Given the description of an element on the screen output the (x, y) to click on. 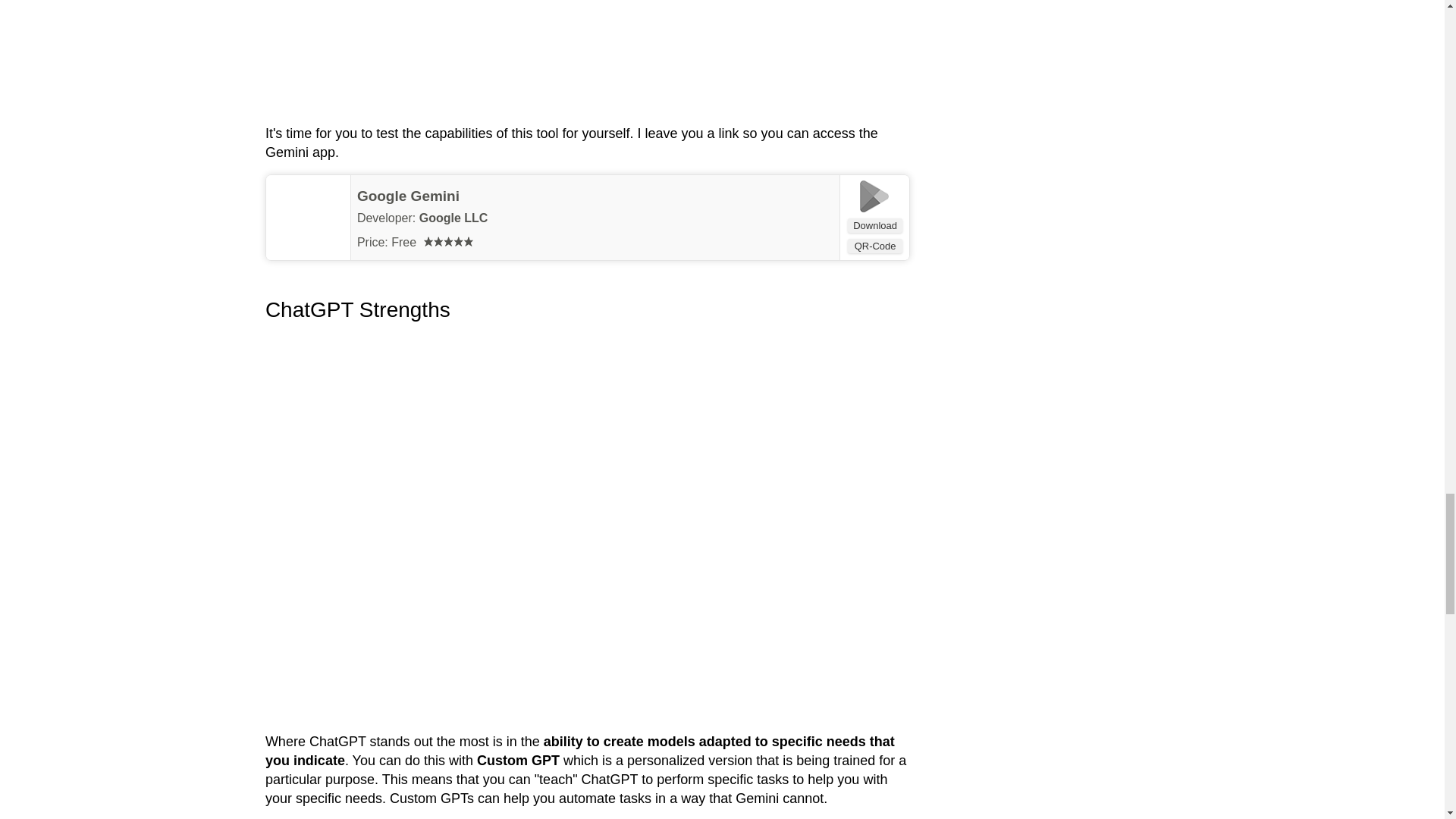
Google LLC (453, 217)
Google Gemini (408, 195)
5 of 5 stars (448, 241)
Download (874, 225)
Google Gemini (408, 195)
